Given the description of an element on the screen output the (x, y) to click on. 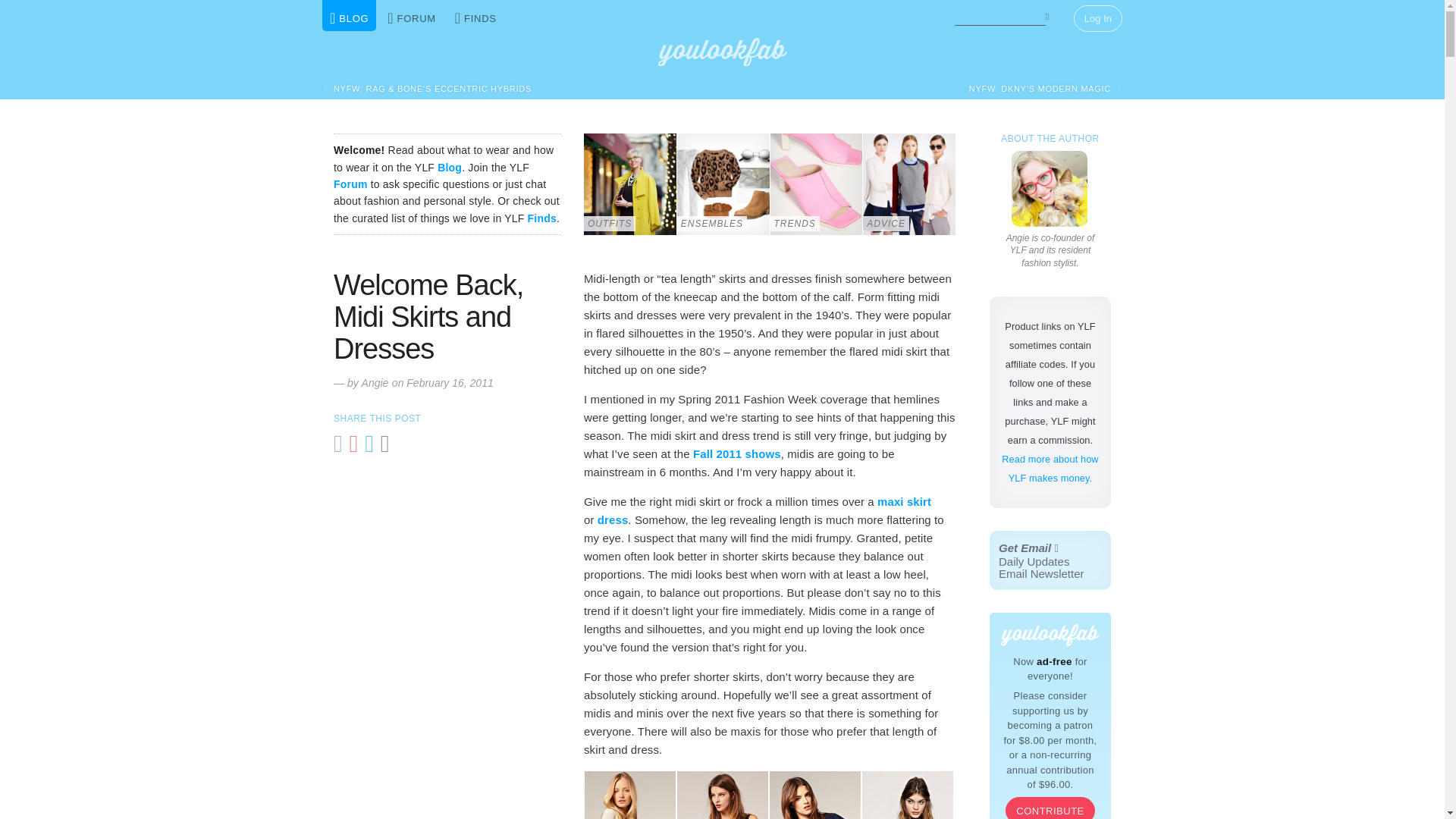
BLOG (348, 15)
Forum (350, 184)
CONTRIBUTE (1050, 807)
dress (612, 519)
FINDS (474, 15)
Antipodium Some Days Are Kylies Midi Dress (1050, 559)
Angie (722, 794)
TRENDS (1049, 188)
Read more about how YLF makes money. (816, 184)
